Given the description of an element on the screen output the (x, y) to click on. 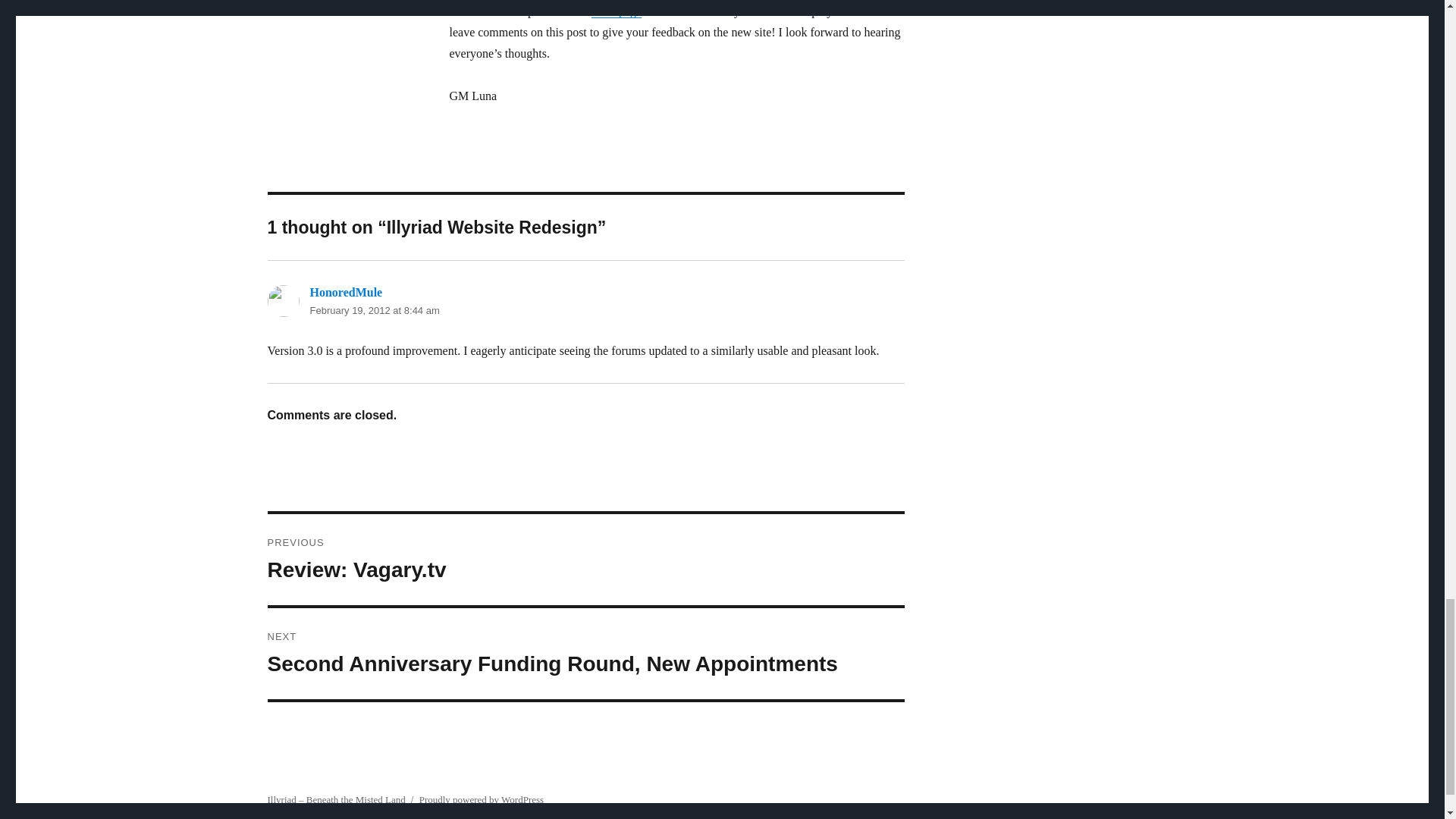
homepage (616, 10)
HonoredMule (344, 291)
February 19, 2012 at 8:44 am (373, 310)
